Given the description of an element on the screen output the (x, y) to click on. 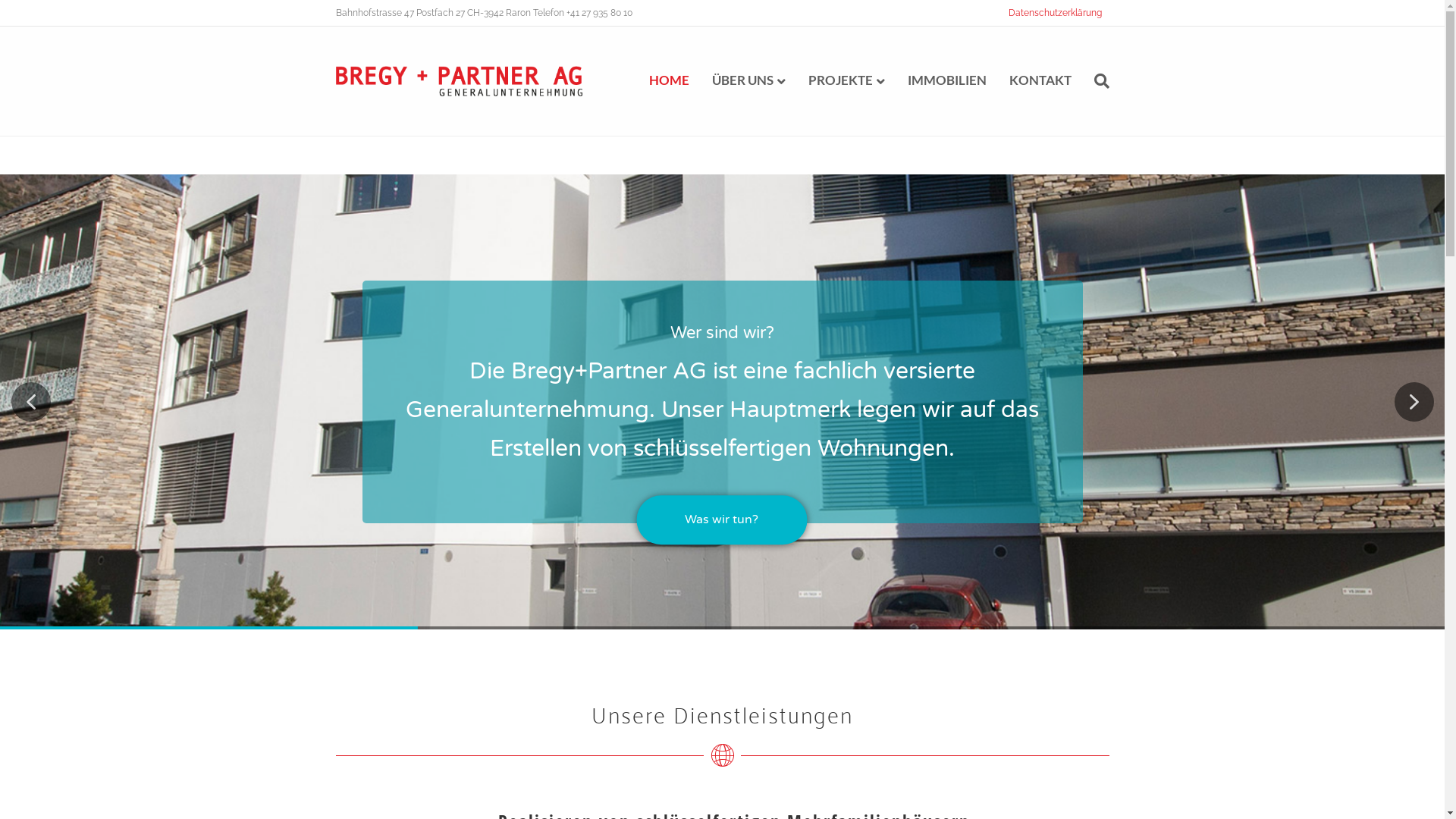
PROJEKTE Element type: text (845, 80)
KONTAKT Element type: text (1039, 79)
HOME Element type: text (668, 79)
IMMOBILIEN Element type: text (946, 79)
Was wir tun? Element type: text (768, 520)
